Given the description of an element on the screen output the (x, y) to click on. 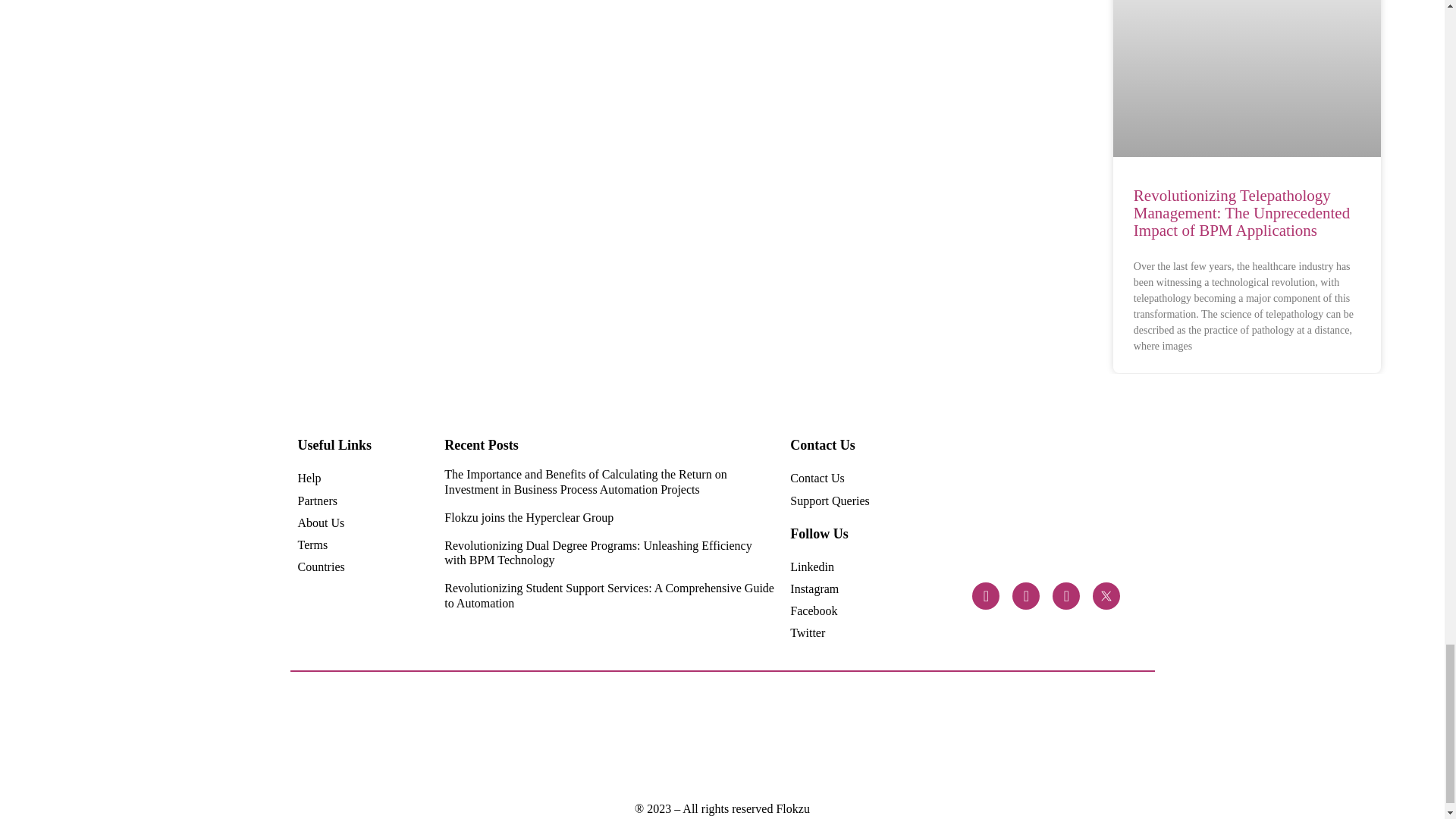
getapp best functionality and features-footer (1010, 737)
frontrunner 2024 (494, 737)
category leaders 2024 (430, 737)
Top Performer Flokzu 2024-2 (559, 737)
good firms top bpm-footer (945, 737)
Top Performer Flokzu 2024-1 (688, 737)
